Given the description of an element on the screen output the (x, y) to click on. 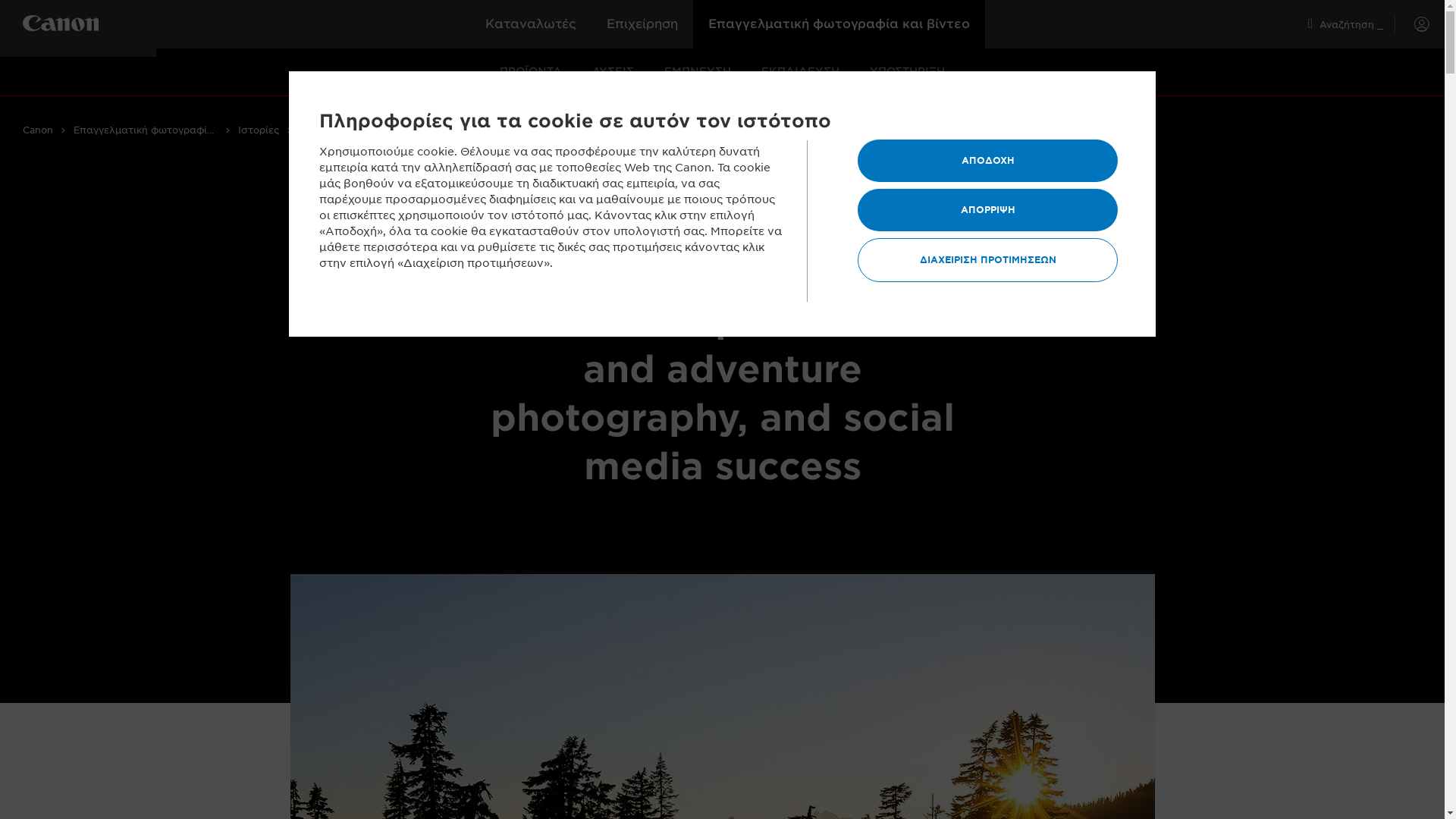
Canon Logo, back to home page (89, 25)
My Canon (1411, 23)
